Given the description of an element on the screen output the (x, y) to click on. 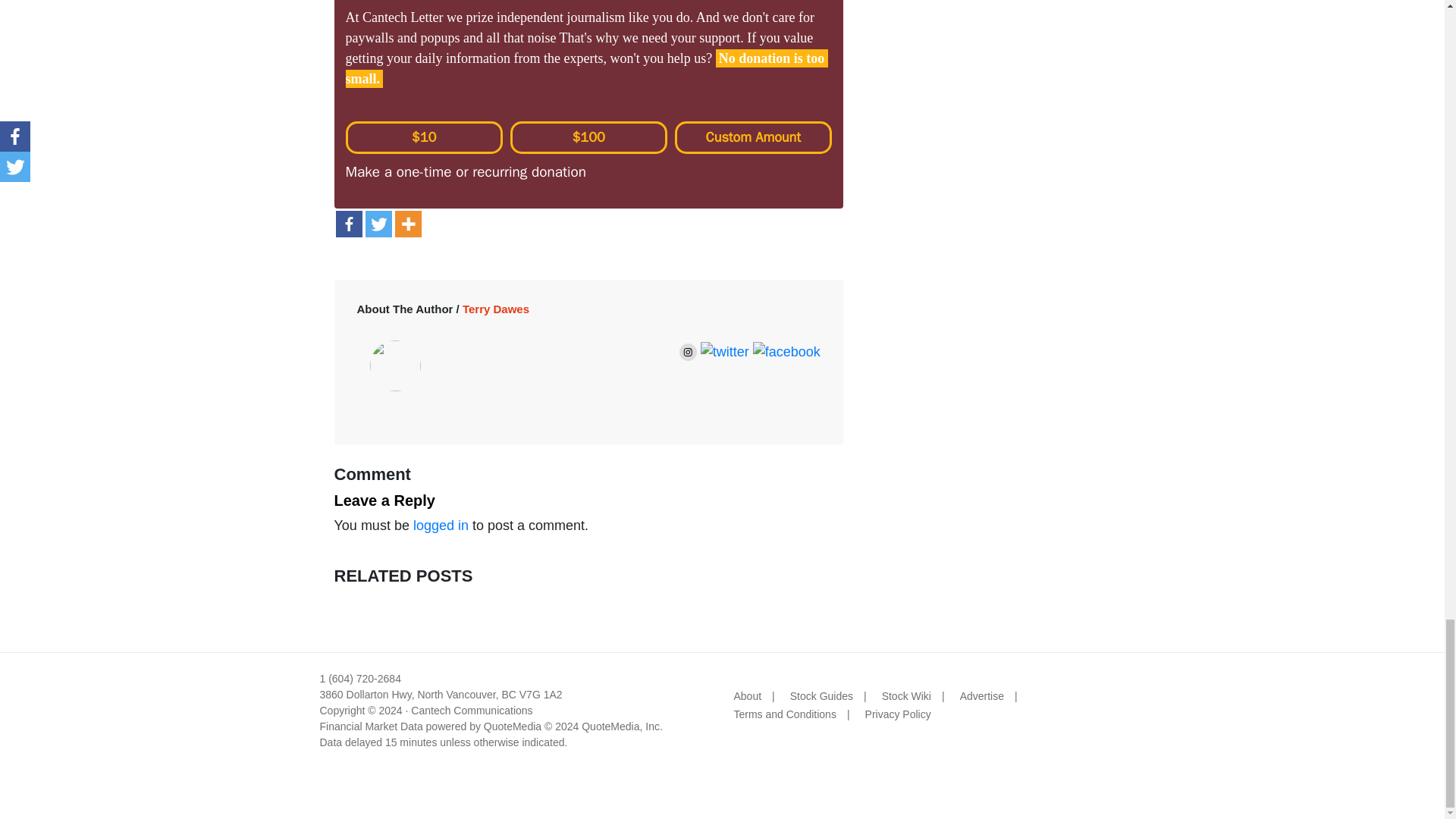
More (407, 223)
Facebook (347, 223)
Twitter (378, 223)
